Given the description of an element on the screen output the (x, y) to click on. 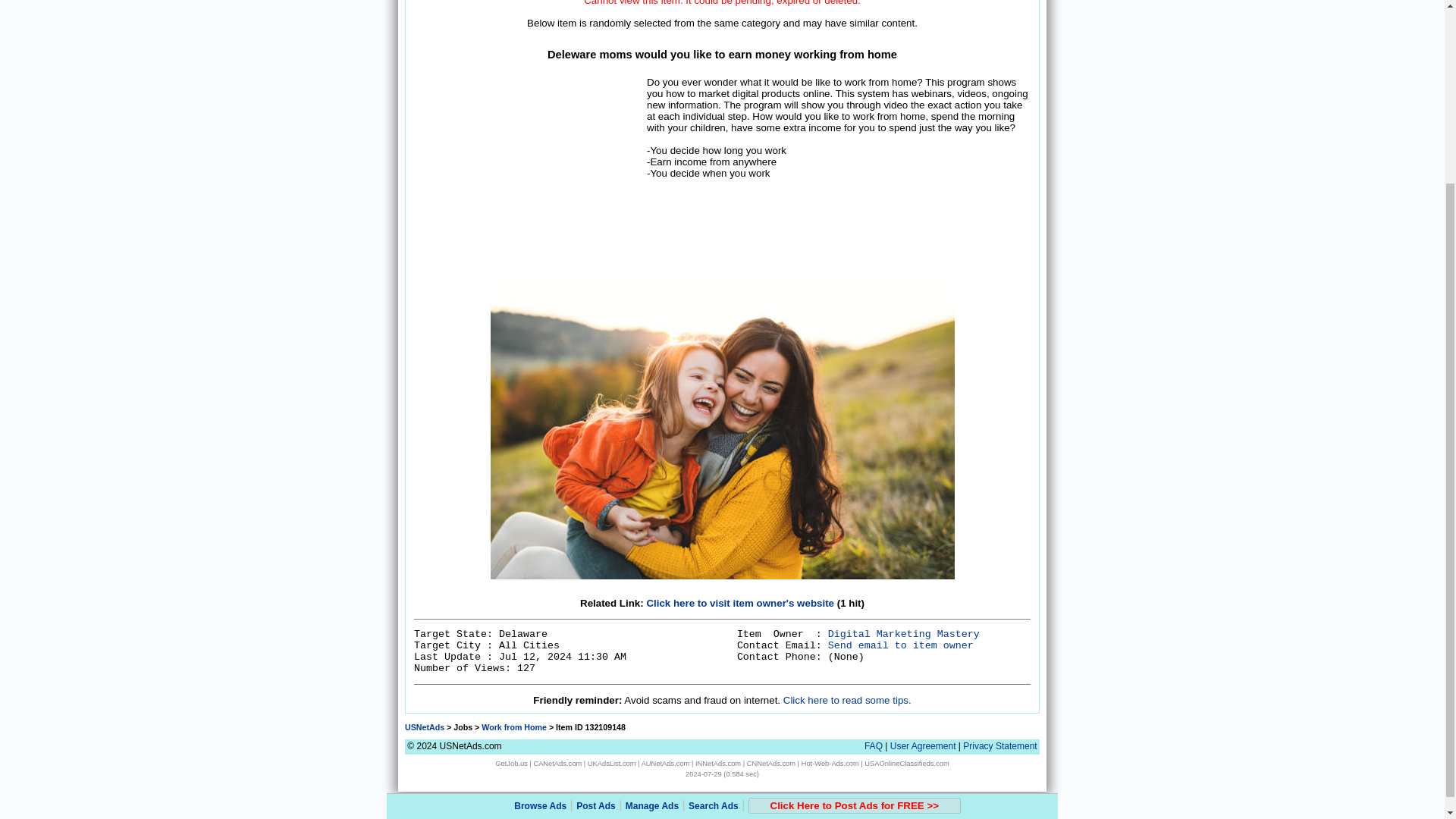
CNNetAds.com (770, 763)
Digital Marketing Mastery (903, 633)
FAQ (873, 746)
Privacy Statement (999, 746)
Work from Home (514, 727)
Advertisement (527, 169)
Browse Ads (539, 575)
Hot-Web-Ads.com (830, 763)
AUNetAds.com (666, 763)
Click here to visit item owner's website (740, 603)
CANetAds.com (556, 763)
Click here to read some tips. (847, 699)
Browse all items posted by this owner (903, 633)
INNetAds.com (718, 763)
Post Ads (595, 575)
